Given the description of an element on the screen output the (x, y) to click on. 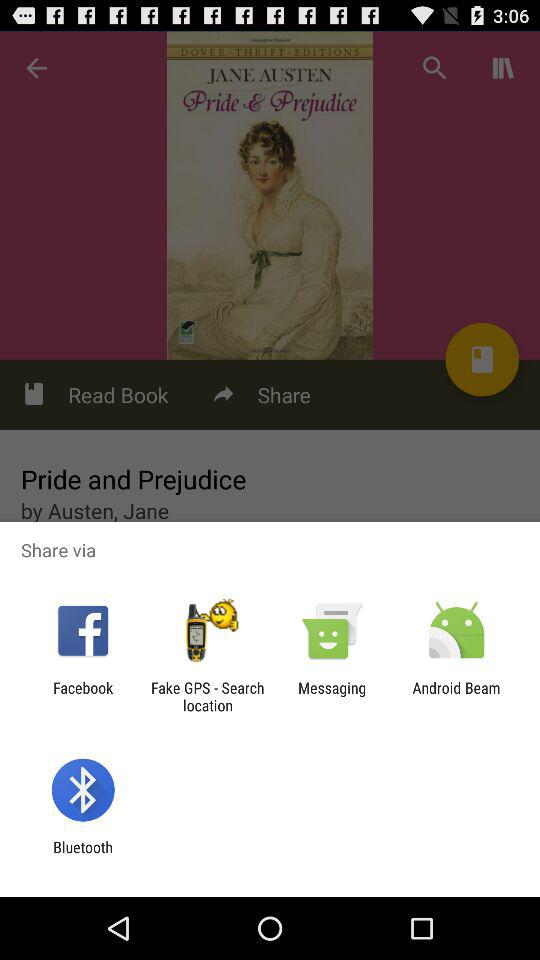
open the app to the left of the fake gps search app (83, 696)
